Given the description of an element on the screen output the (x, y) to click on. 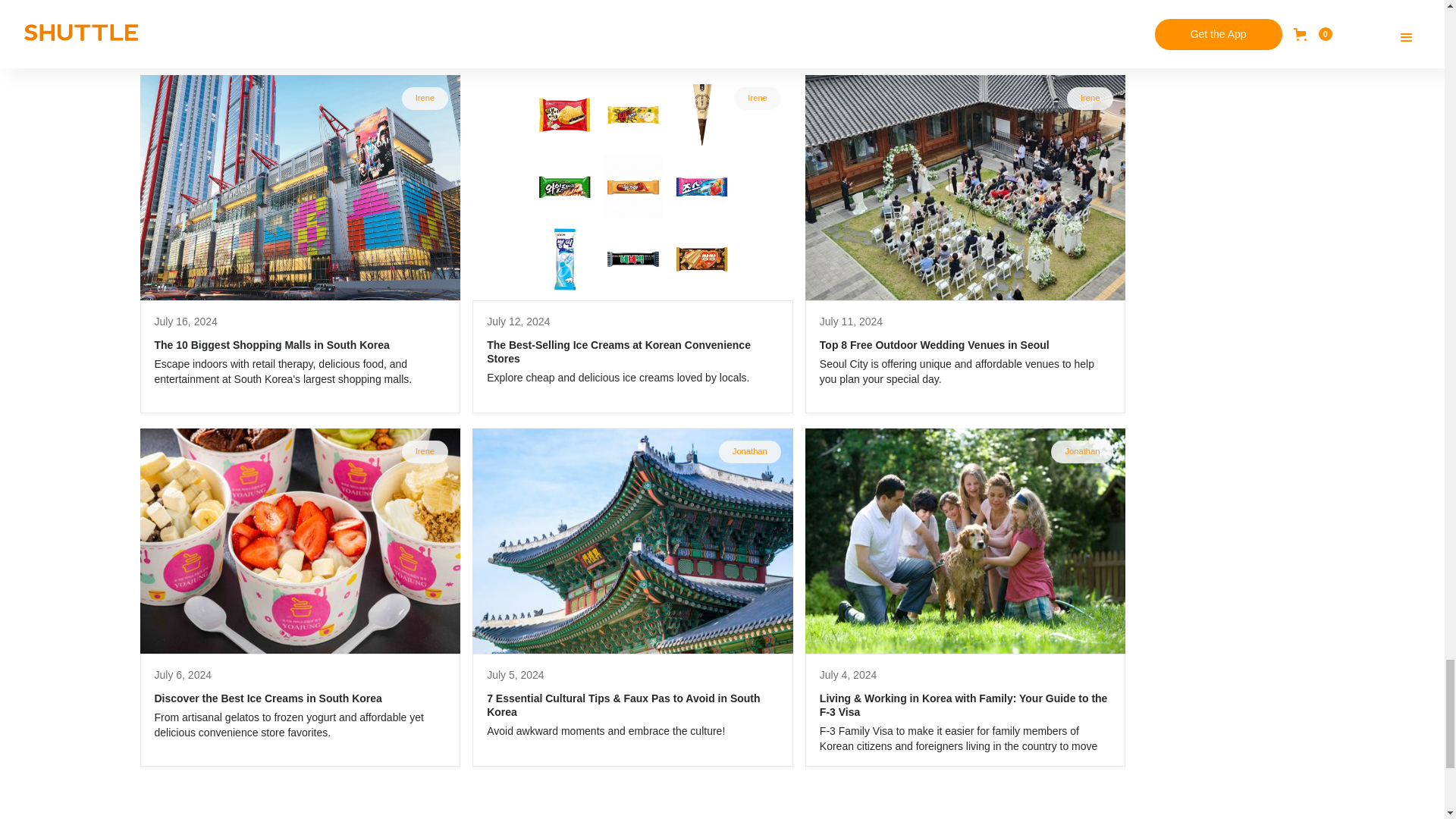
See All (1286, 19)
